Given the description of an element on the screen output the (x, y) to click on. 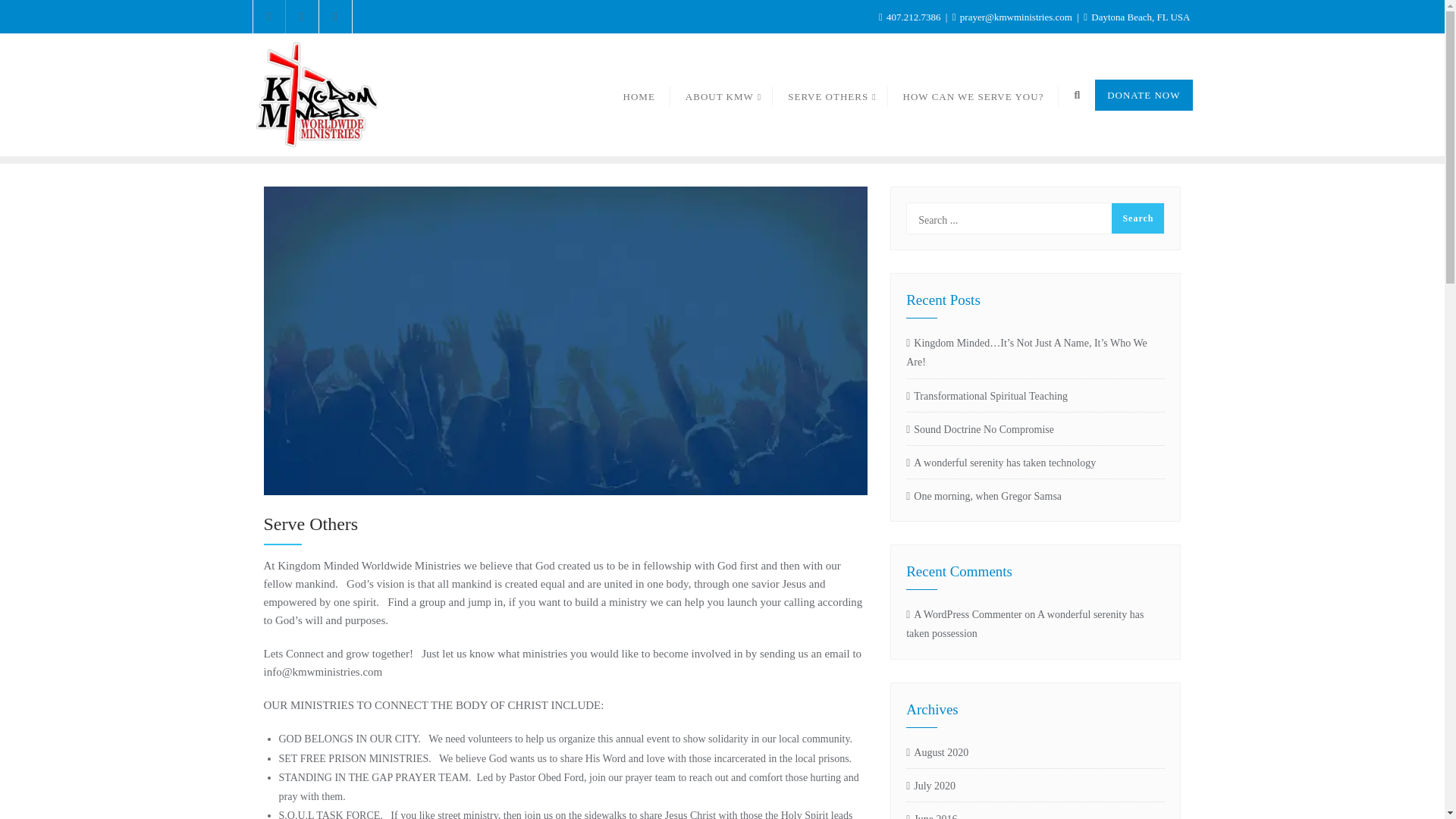
ABOUT KMW (721, 95)
SERVE OTHERS (829, 95)
Search (1137, 218)
HOW CAN WE SERVE YOU? (973, 95)
DONATE NOW (1143, 94)
HOME (638, 95)
Search (1137, 218)
